Given the description of an element on the screen output the (x, y) to click on. 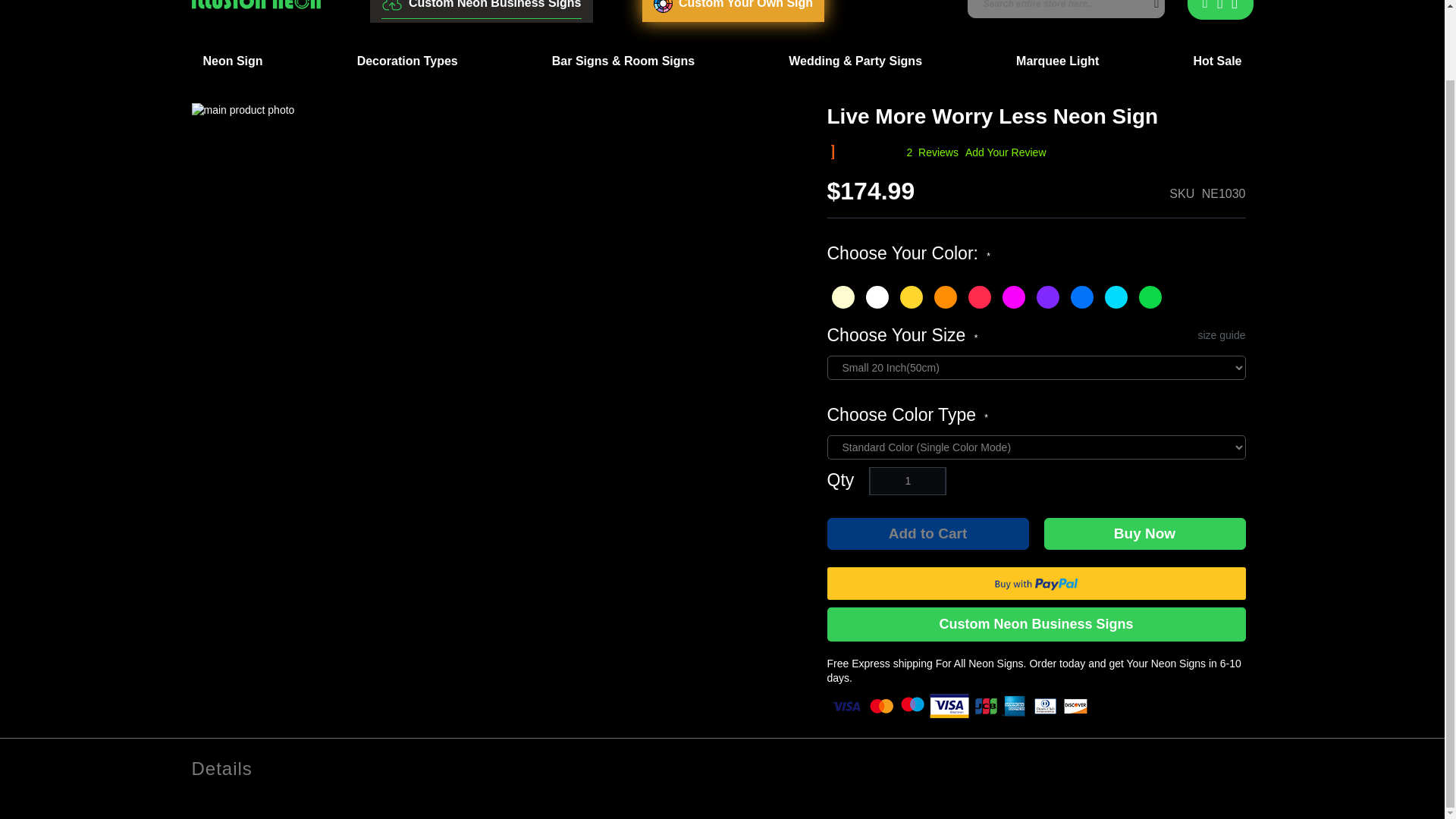
Decoration Types (407, 61)
Neon Sign (231, 61)
Decoration Types (407, 61)
Neon Sign (231, 61)
Custom Your Own Sign (733, 11)
Custom Neon Business Signs (480, 9)
Custom Your Own Sign (733, 11)
1 (906, 480)
Upload Image (480, 9)
